Given the description of an element on the screen output the (x, y) to click on. 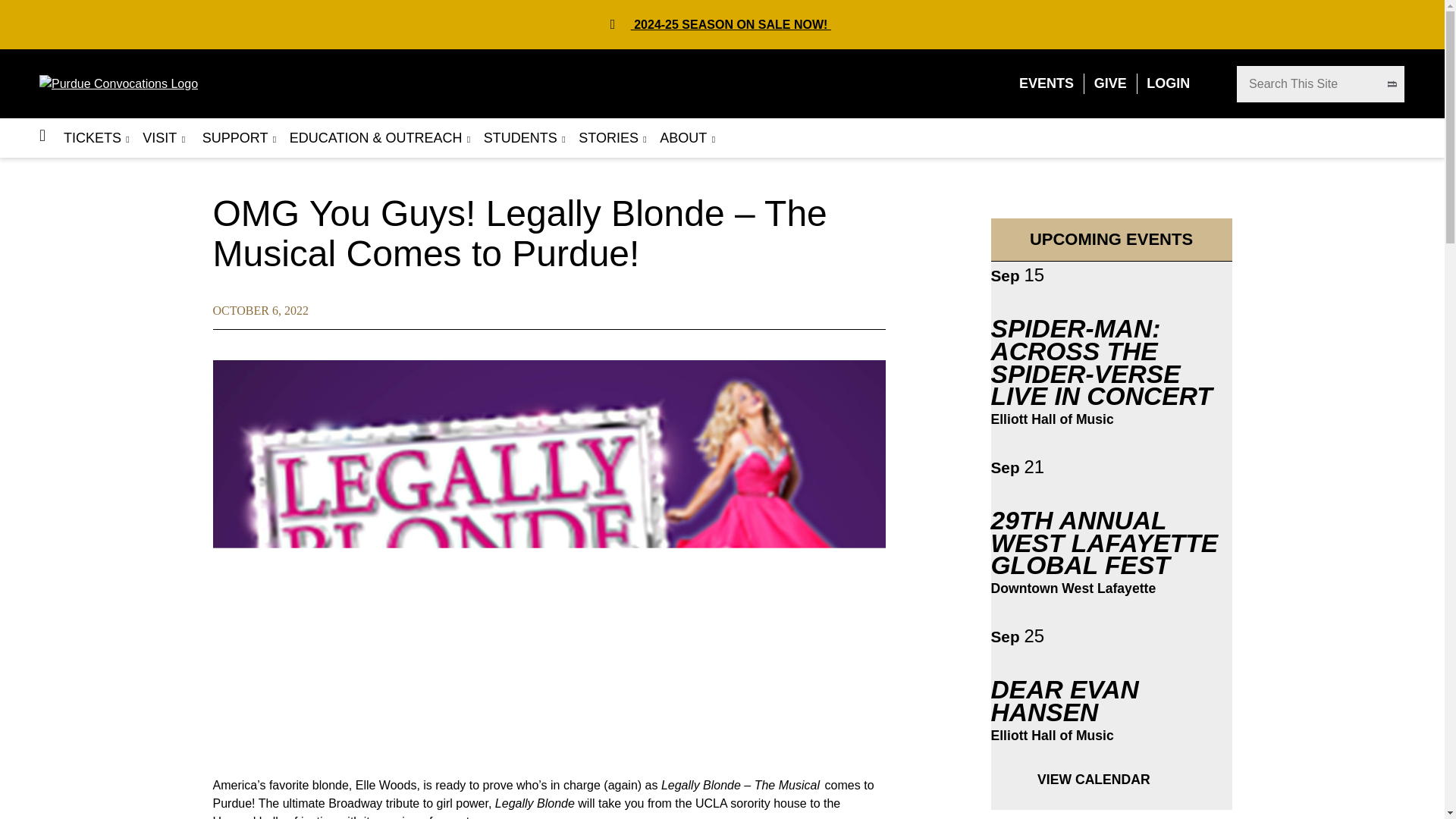
 SUPPORT (232, 137)
EVENTS (1046, 83)
Tickets (92, 137)
VISIT (159, 137)
STUDENTS (520, 137)
ABOUT (682, 137)
Visit (159, 137)
LOGIN (1168, 83)
STORIES (608, 137)
2024-25 SEASON ON SALE NOW! (730, 24)
TICKETS (92, 137)
Upcoming Events (1046, 83)
GIVE (1110, 83)
Support (232, 137)
